Given the description of an element on the screen output the (x, y) to click on. 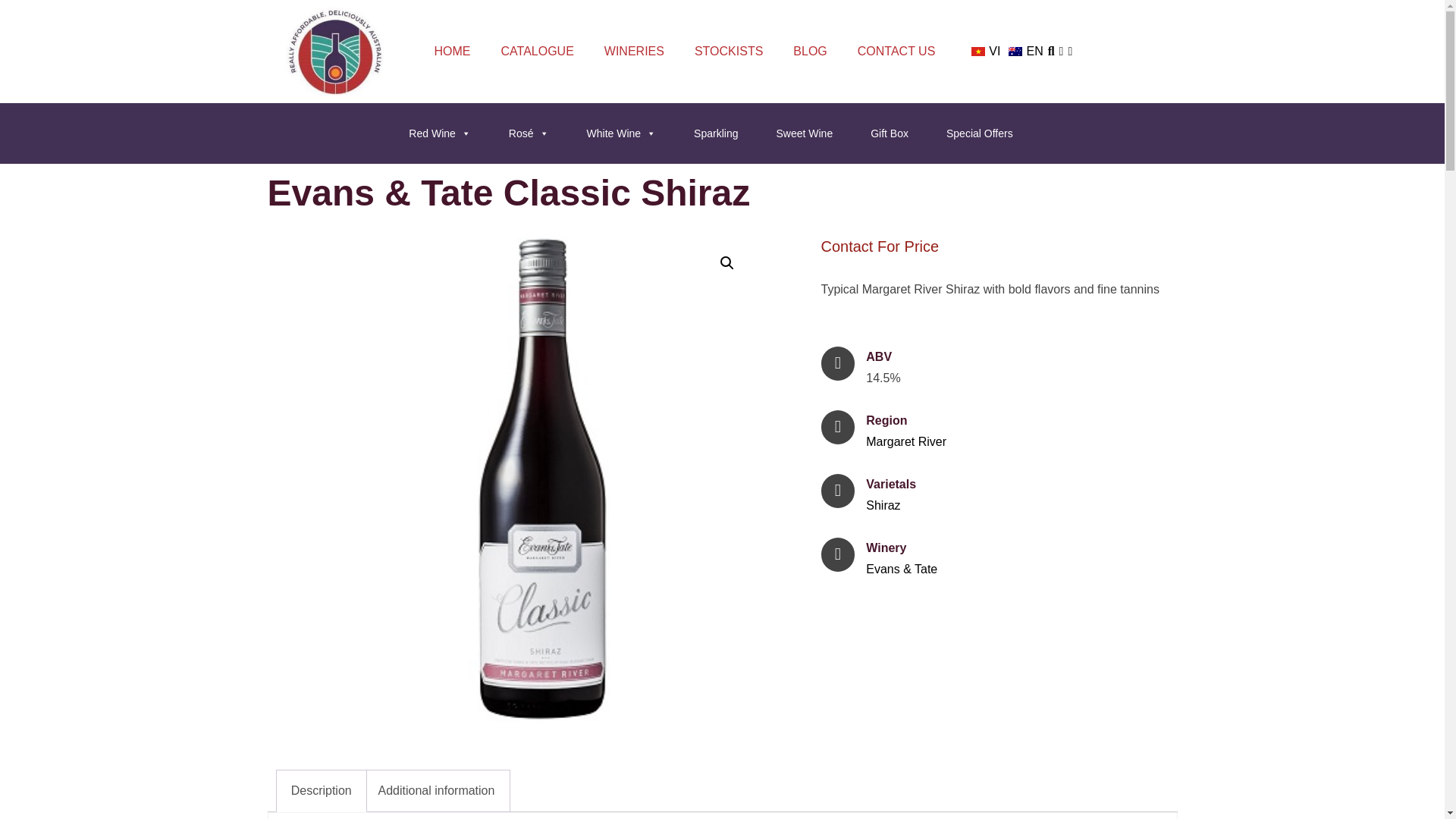
EN (1024, 51)
CONTACT US (896, 51)
CATALOGUE (536, 51)
BLOG (809, 51)
STOCKISTS (728, 51)
WINERIES (634, 51)
English (1015, 51)
VI (984, 51)
HOME (451, 51)
